Given the description of an element on the screen output the (x, y) to click on. 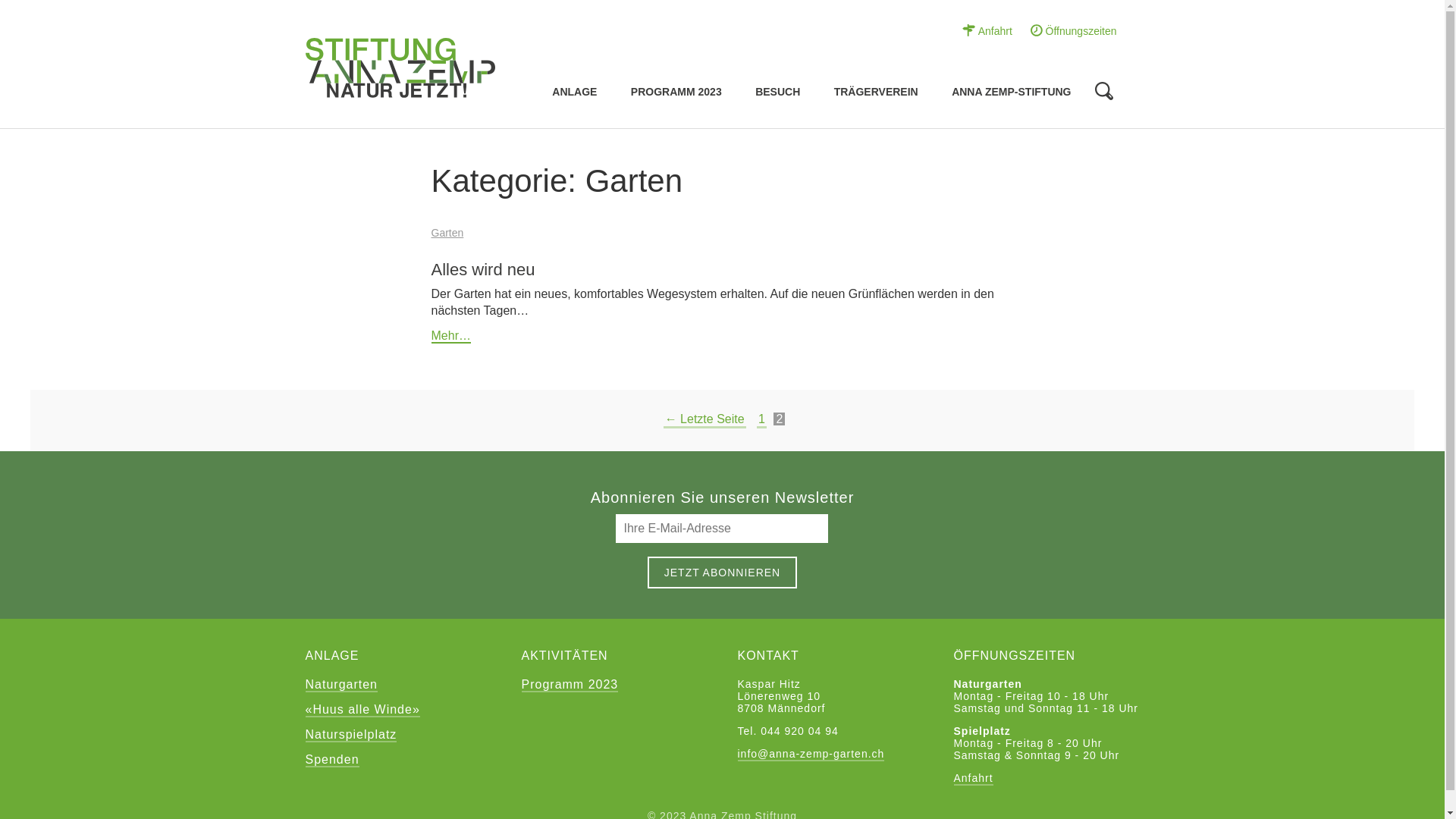
Naturgarten Element type: text (340, 684)
Garten Element type: text (446, 232)
ANLAGE Element type: text (574, 92)
Alles wird neu Element type: text (482, 269)
Programm 2023 Element type: text (569, 684)
Naturspielplatz Element type: text (350, 735)
BESUCH Element type: text (777, 92)
Anfahrt Element type: text (973, 778)
info@anna-zemp-garten.ch Element type: text (810, 754)
Jetzt Abonnieren Element type: text (722, 572)
suchen Element type: text (498, 56)
ANNA ZEMP-STIFTUNG Element type: text (1010, 92)
PROGRAMM 2023 Element type: text (675, 92)
Spenden Element type: text (331, 760)
Anfahrt Element type: text (986, 30)
Seite
1 Element type: text (761, 420)
